Given the description of an element on the screen output the (x, y) to click on. 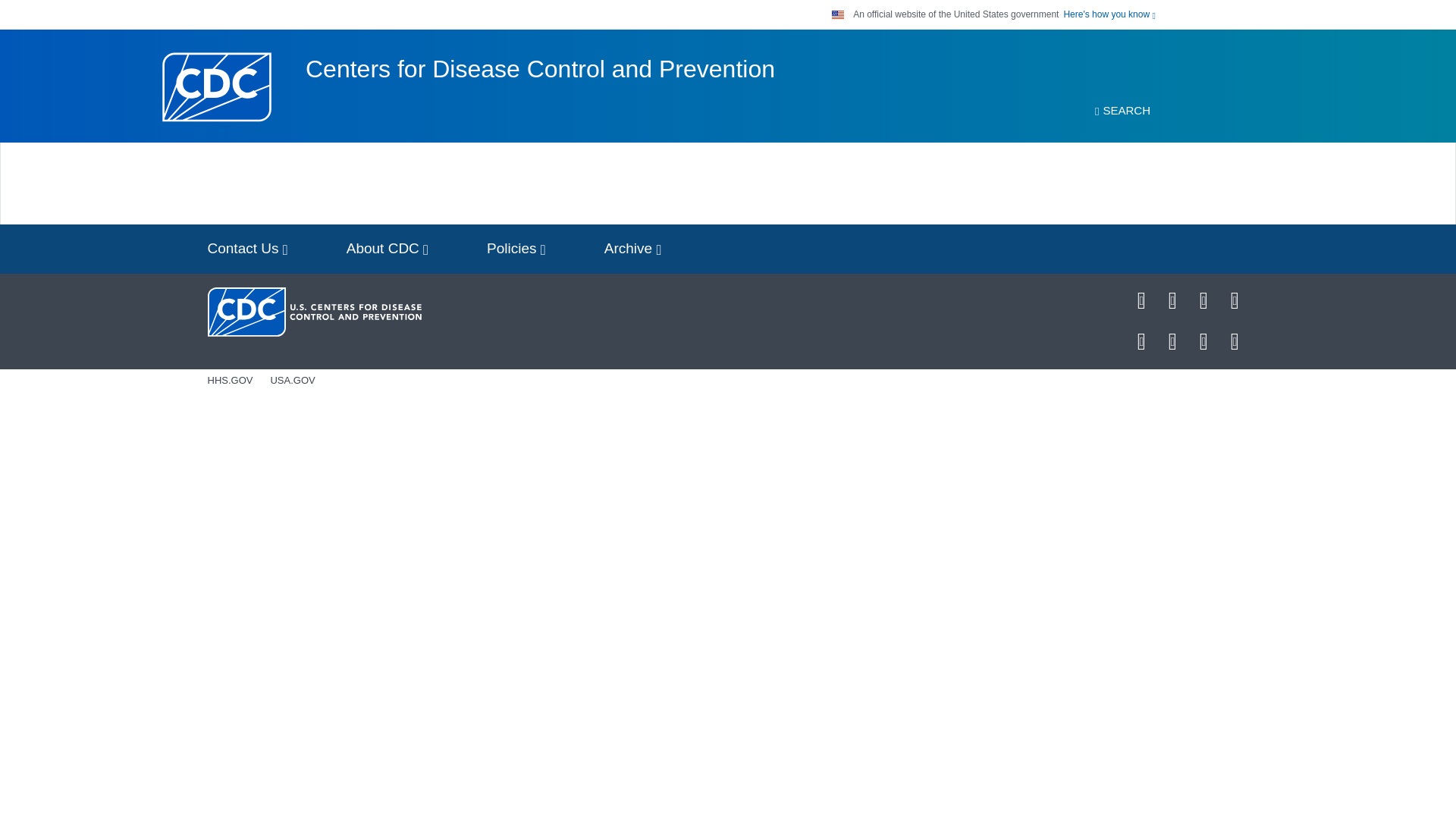
Here's how you know (1108, 14)
SEARCH (1122, 110)
About CDC (387, 248)
Policies (516, 248)
Contact Us (247, 248)
Archive (633, 248)
Centers for Disease Control and Prevention (539, 68)
